Given the description of an element on the screen output the (x, y) to click on. 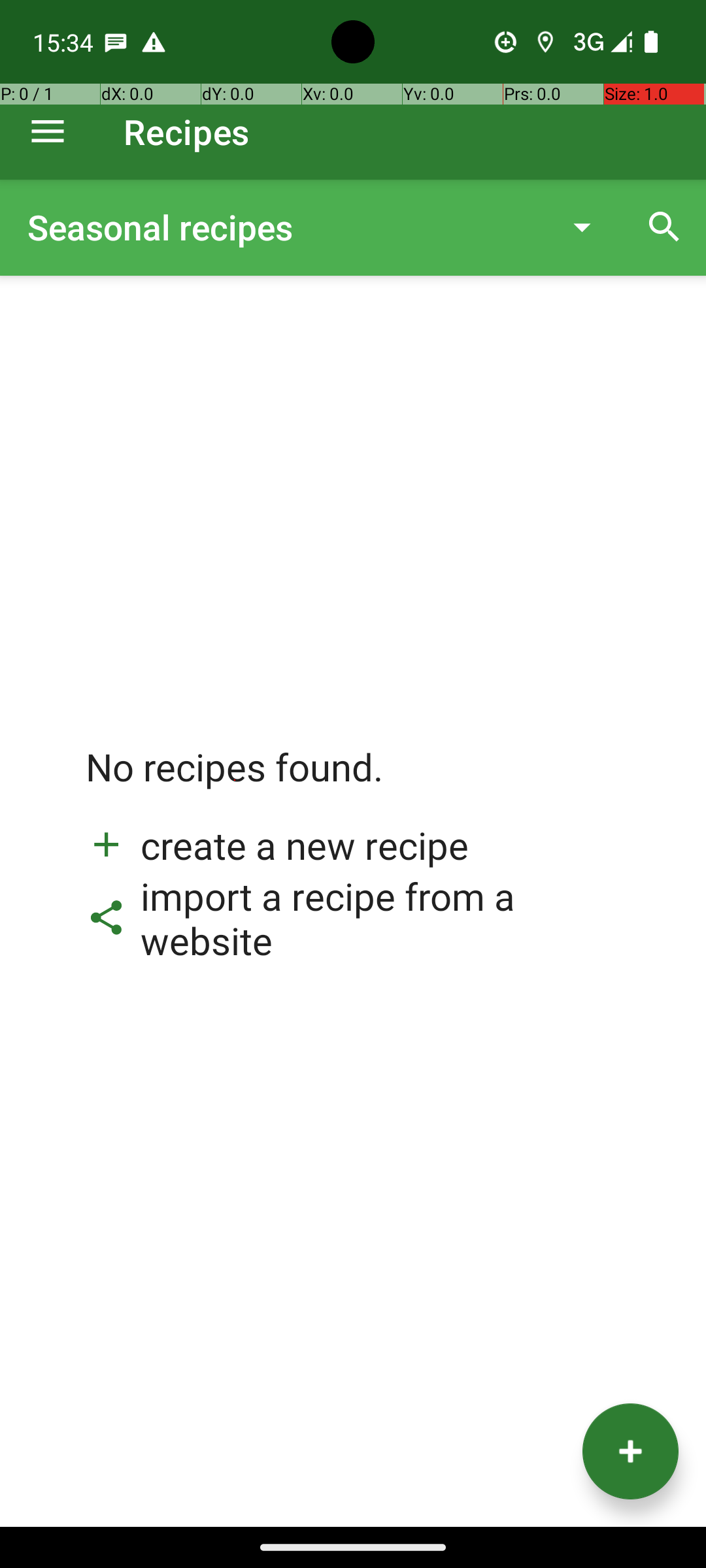
No recipes found. Element type: android.widget.TextView (234, 779)
create a new recipe Element type: android.widget.TextView (276, 844)
import a recipe from a website Element type: android.widget.TextView (352, 917)
Seasonal recipes Element type: android.widget.TextView (283, 226)
